Given the description of an element on the screen output the (x, y) to click on. 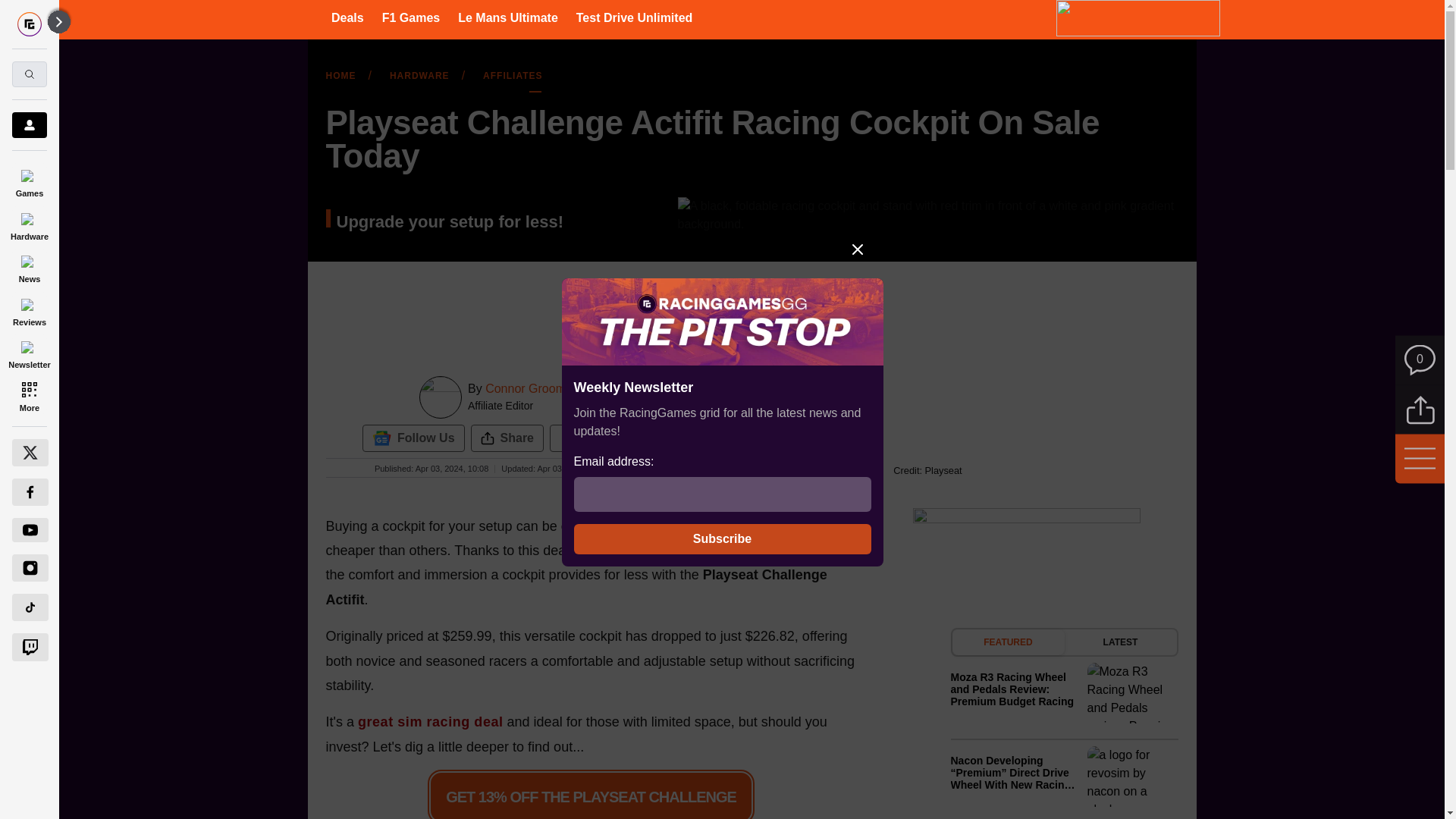
Hardware (28, 224)
News (28, 266)
More (28, 395)
Games (28, 180)
Newsletter (28, 352)
Le Mans Ultimate (507, 18)
Deals (347, 18)
Test Drive Unlimited (634, 18)
Reviews (28, 309)
Latest News (1063, 723)
F1 Games (410, 18)
